Given the description of an element on the screen output the (x, y) to click on. 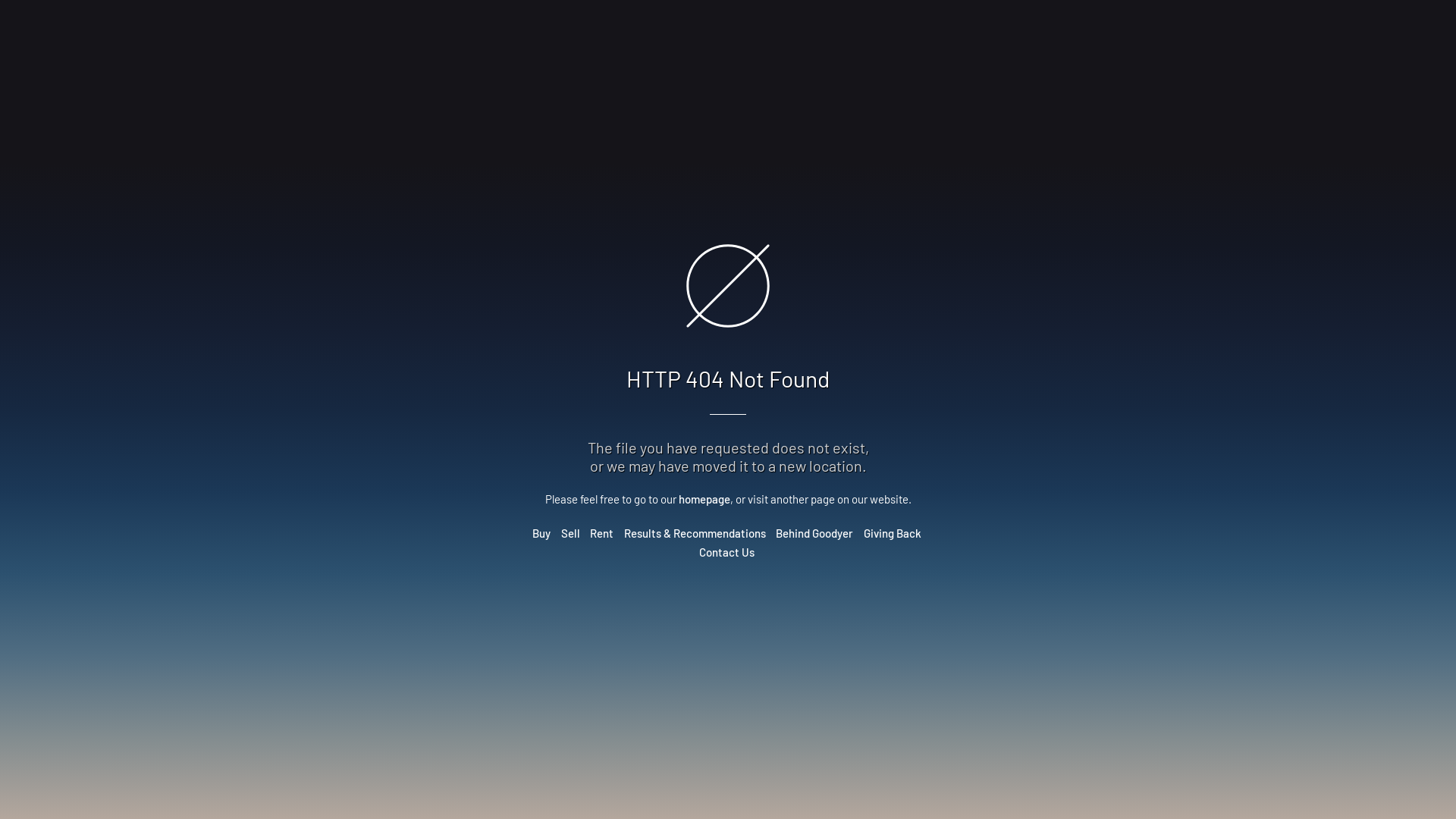
homepage Element type: text (703, 498)
Buy Element type: text (541, 532)
Contact Us Element type: text (726, 551)
Behind Goodyer Element type: text (814, 532)
Results & Recommendations Element type: text (694, 532)
Rent Element type: text (601, 532)
Giving Back Element type: text (892, 532)
Sell Element type: text (570, 532)
